Given the description of an element on the screen output the (x, y) to click on. 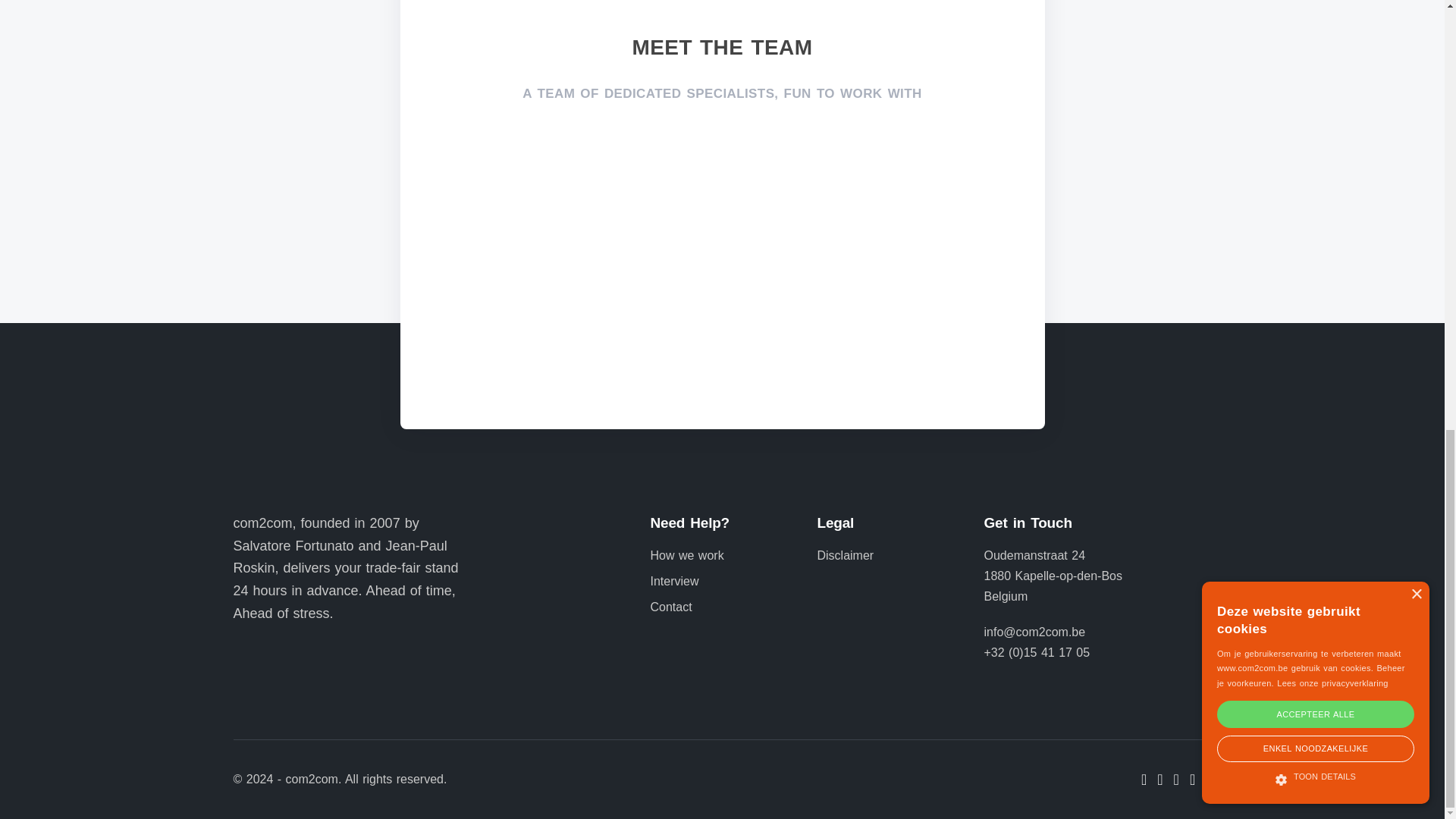
Contact (671, 606)
How we work (686, 554)
Disclaimer (845, 554)
Interview (674, 581)
